Given the description of an element on the screen output the (x, y) to click on. 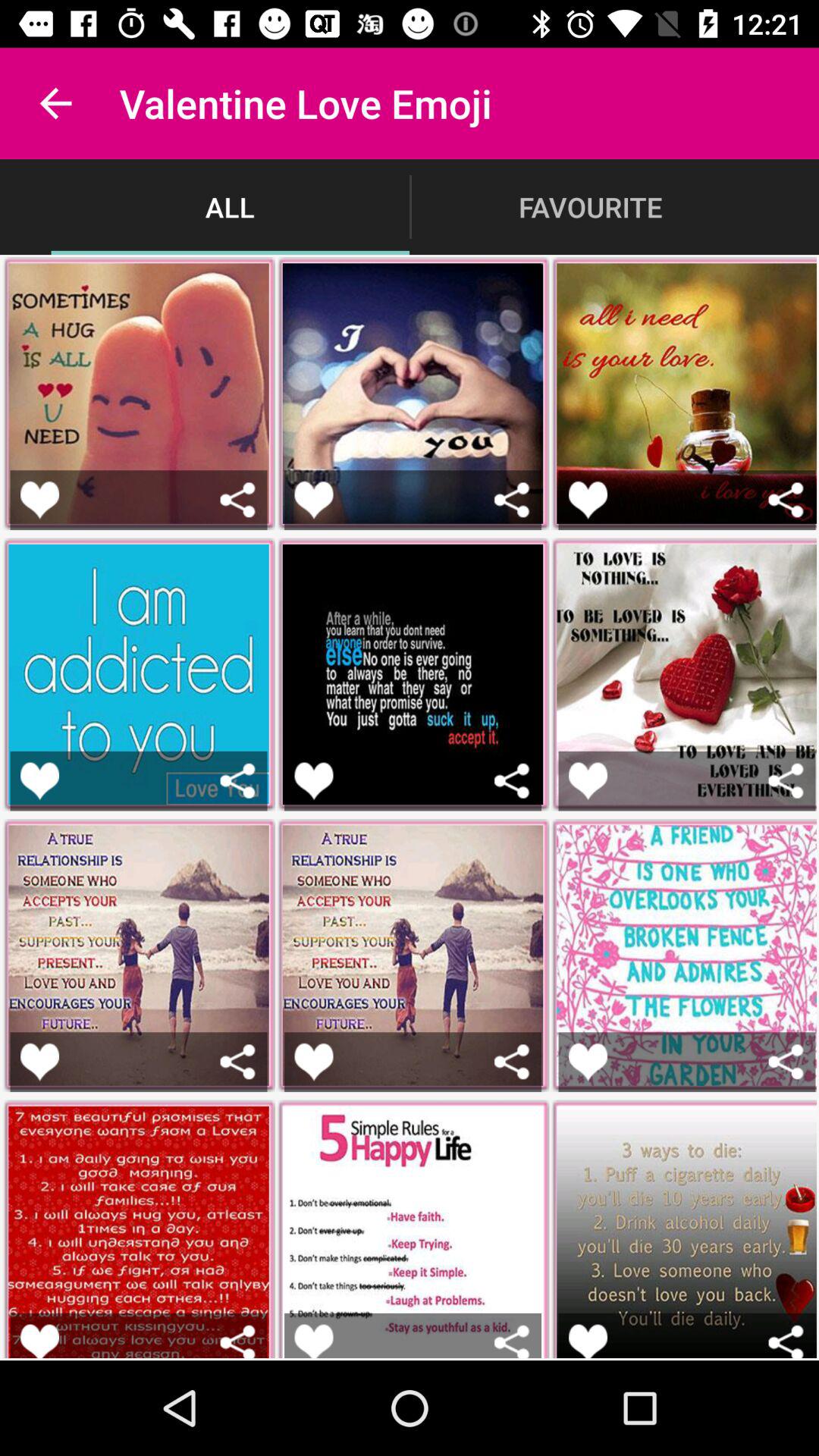
share emoji (237, 780)
